Given the description of an element on the screen output the (x, y) to click on. 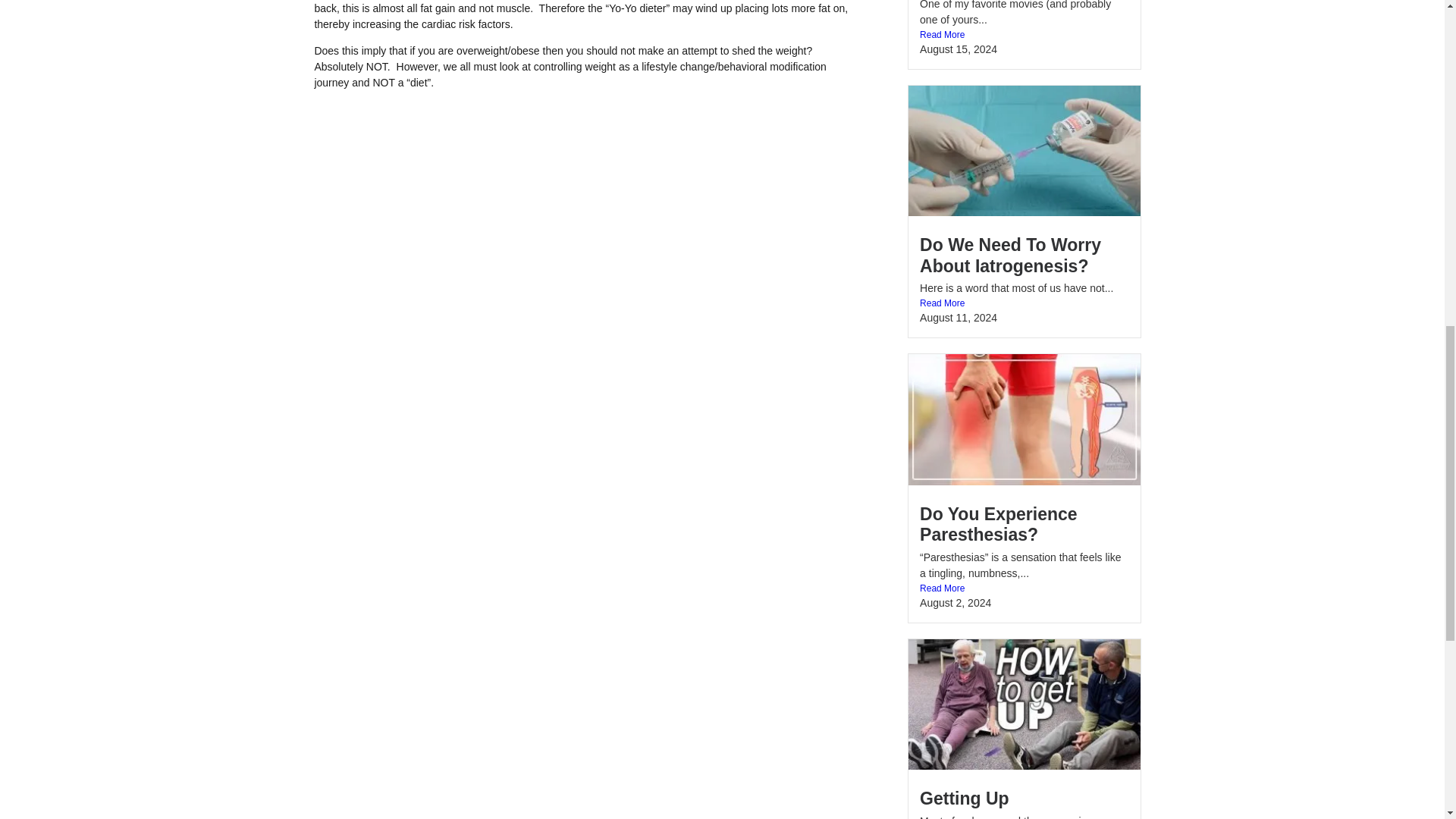
Getting Up (964, 798)
Do We Need To Worry About Iatrogenesis? (1010, 255)
Do You Experience Paresthesias? (998, 524)
